Given the description of an element on the screen output the (x, y) to click on. 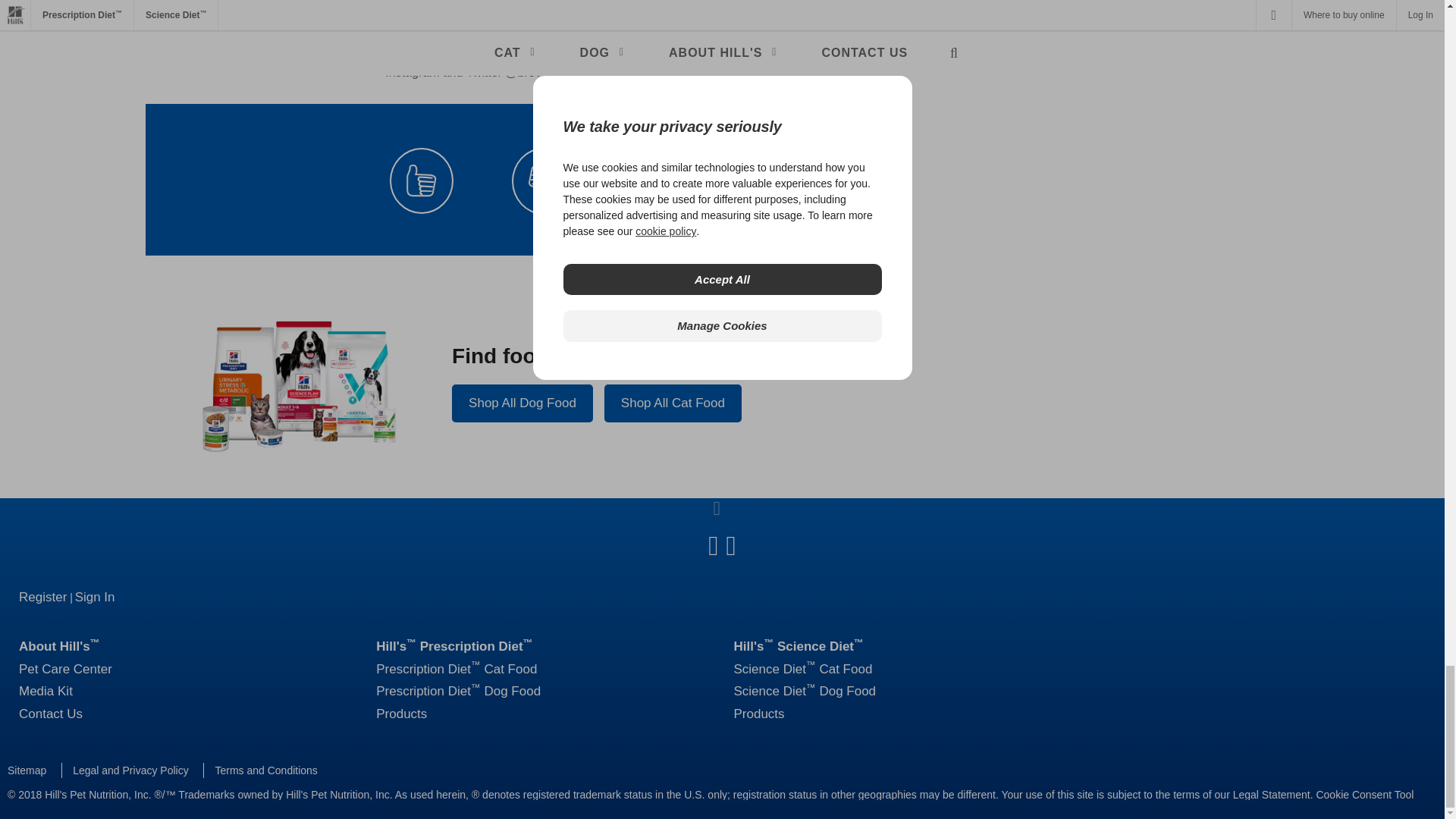
positive (421, 180)
